Given the description of an element on the screen output the (x, y) to click on. 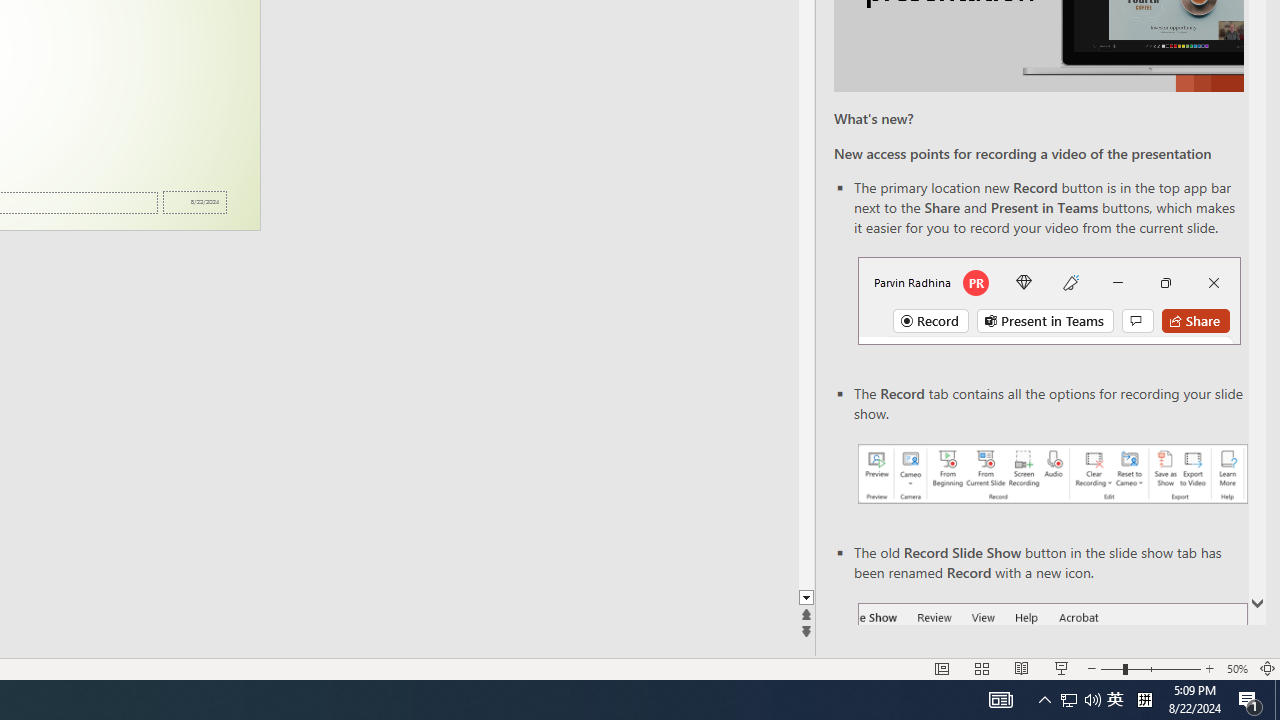
Record button in top bar (1049, 300)
Date (194, 201)
Zoom 50% (1236, 668)
Record your presentations screenshot one (1052, 473)
